Given the description of an element on the screen output the (x, y) to click on. 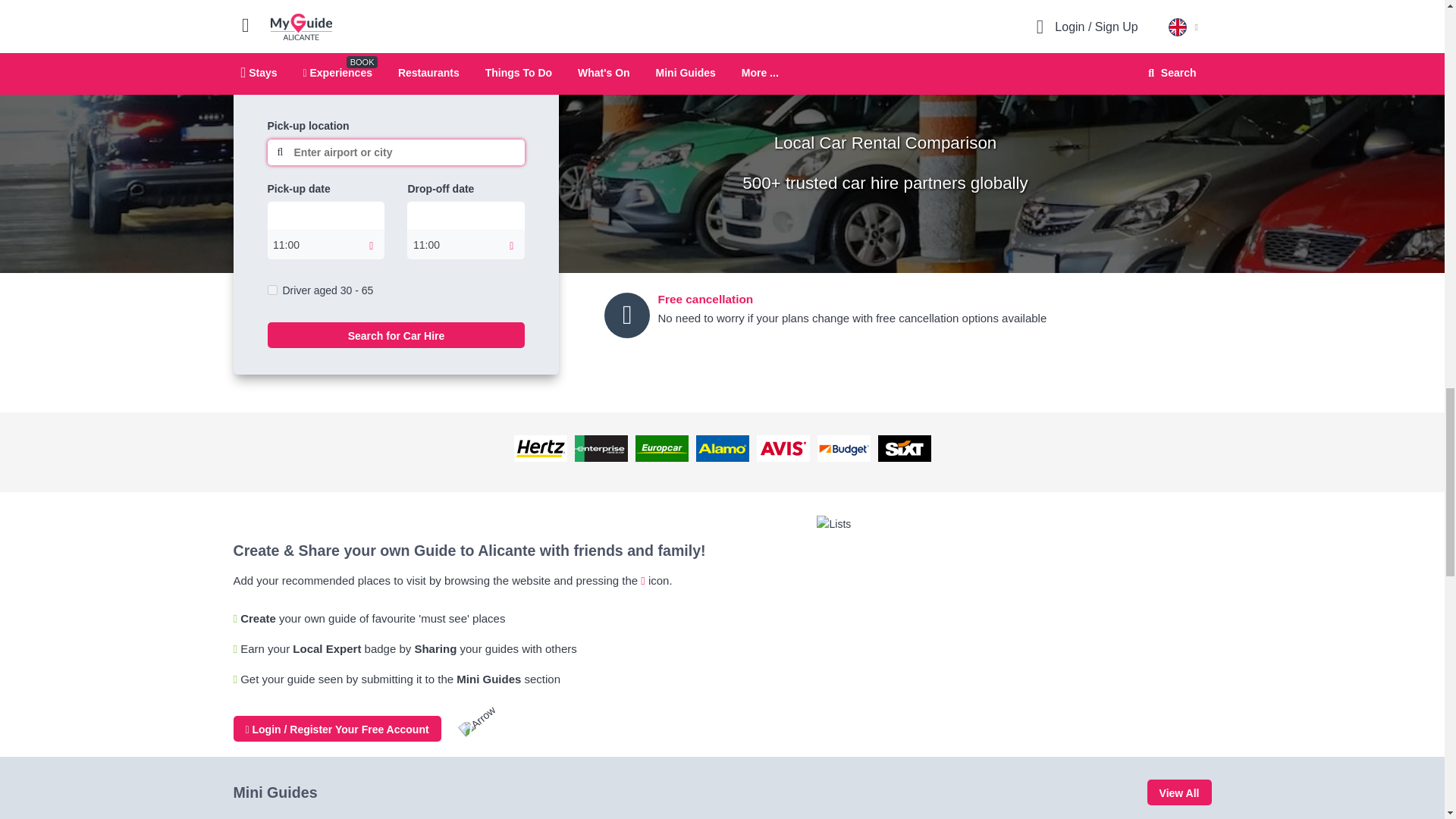
on (271, 289)
